Given the description of an element on the screen output the (x, y) to click on. 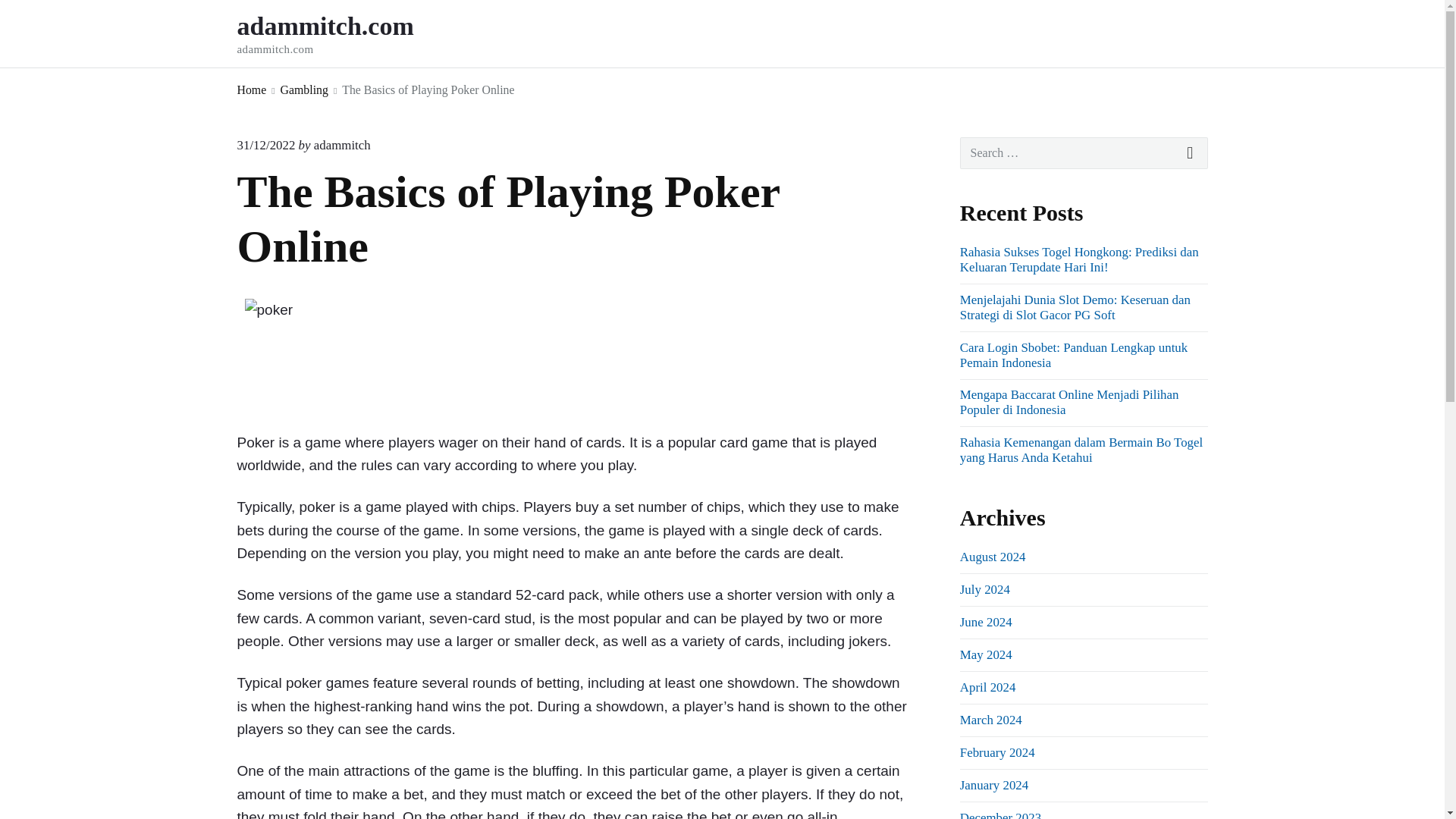
May 2024 (985, 654)
Cara Login Sbobet: Panduan Lengkap untuk Pemain Indonesia (1073, 355)
Mengapa Baccarat Online Menjadi Pilihan Populer di Indonesia (1069, 401)
December 2023 (344, 33)
adammitch (1000, 814)
Saturday, December 31, 2022, 12:15 pm (342, 145)
February 2024 (265, 145)
June 2024 (997, 752)
July 2024 (985, 622)
August 2024 (984, 589)
Home (992, 556)
